Given the description of an element on the screen output the (x, y) to click on. 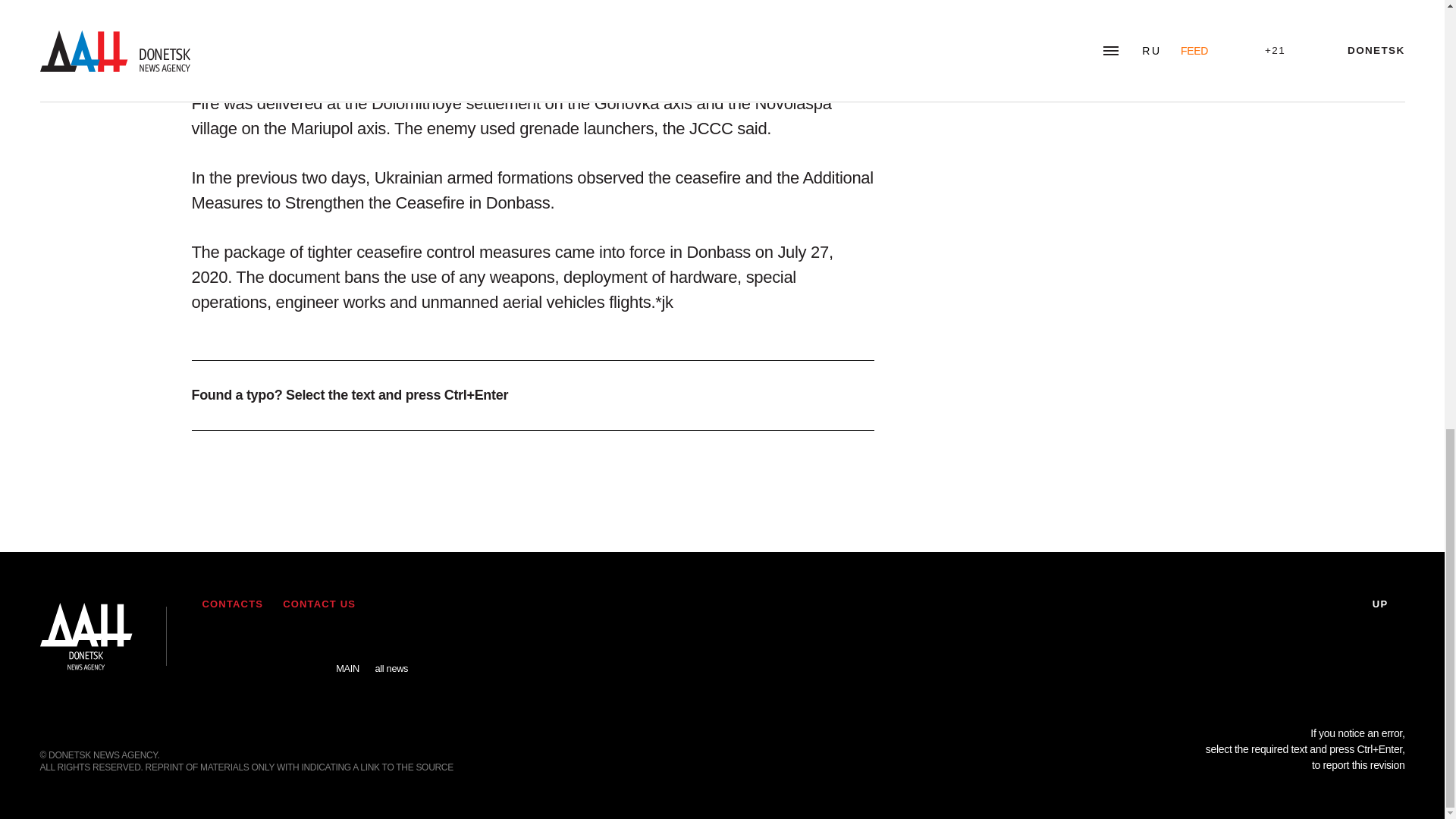
Odnoklassniki (304, 644)
CONTACTS (232, 603)
RSS (217, 644)
UP (1389, 604)
VKontakte (262, 644)
all news (390, 656)
UP (1389, 604)
